Given the description of an element on the screen output the (x, y) to click on. 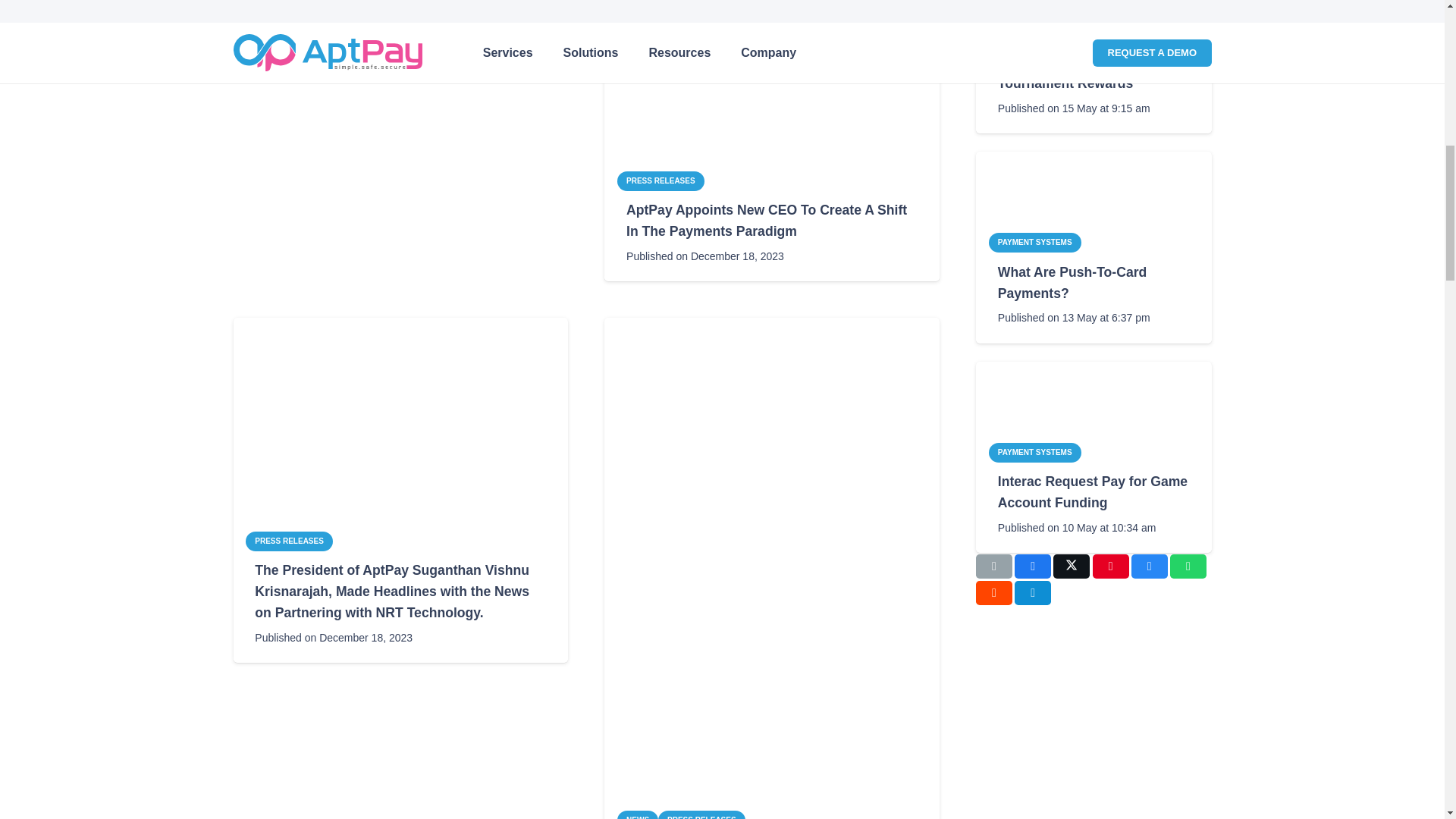
13 May 2024 at 18:37:09 -05:00 (1073, 317)
Email this (993, 566)
15 May 2024 at 09:15:20 -05:00 (1073, 107)
Share this (1032, 566)
18 December 2023 at 15:17:37 -05:00 (705, 255)
18 December 2023 at 15:18:43 -05:00 (333, 14)
10 May 2024 at 10:34:15 -05:00 (1076, 527)
Pin this (1111, 566)
18 December 2023 at 15:14:36 -05:00 (333, 637)
Tweet this (1070, 566)
